Given the description of an element on the screen output the (x, y) to click on. 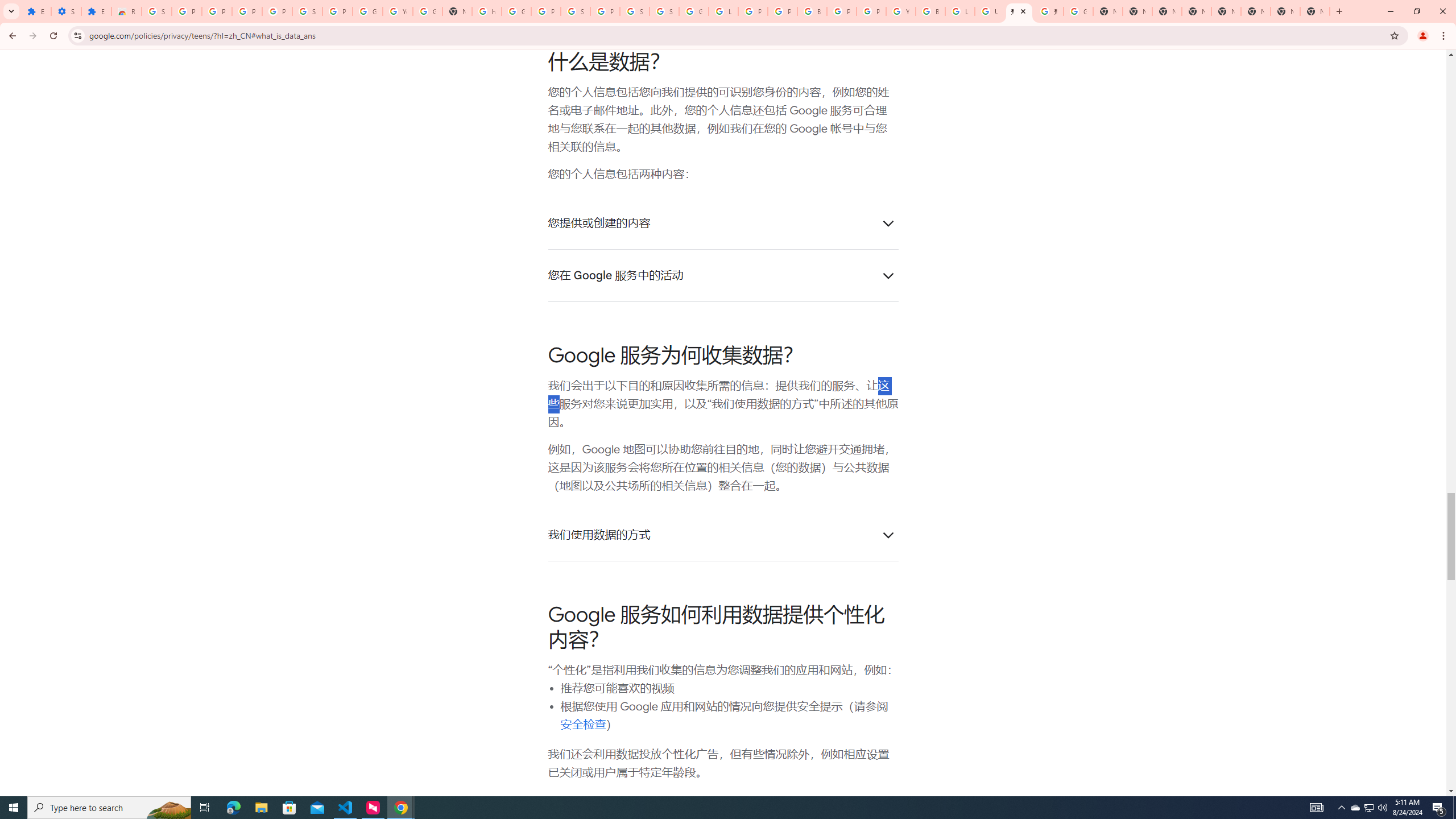
https://scholar.google.com/ (486, 11)
Extensions (36, 11)
Sign in - Google Accounts (156, 11)
YouTube (397, 11)
